Given the description of an element on the screen output the (x, y) to click on. 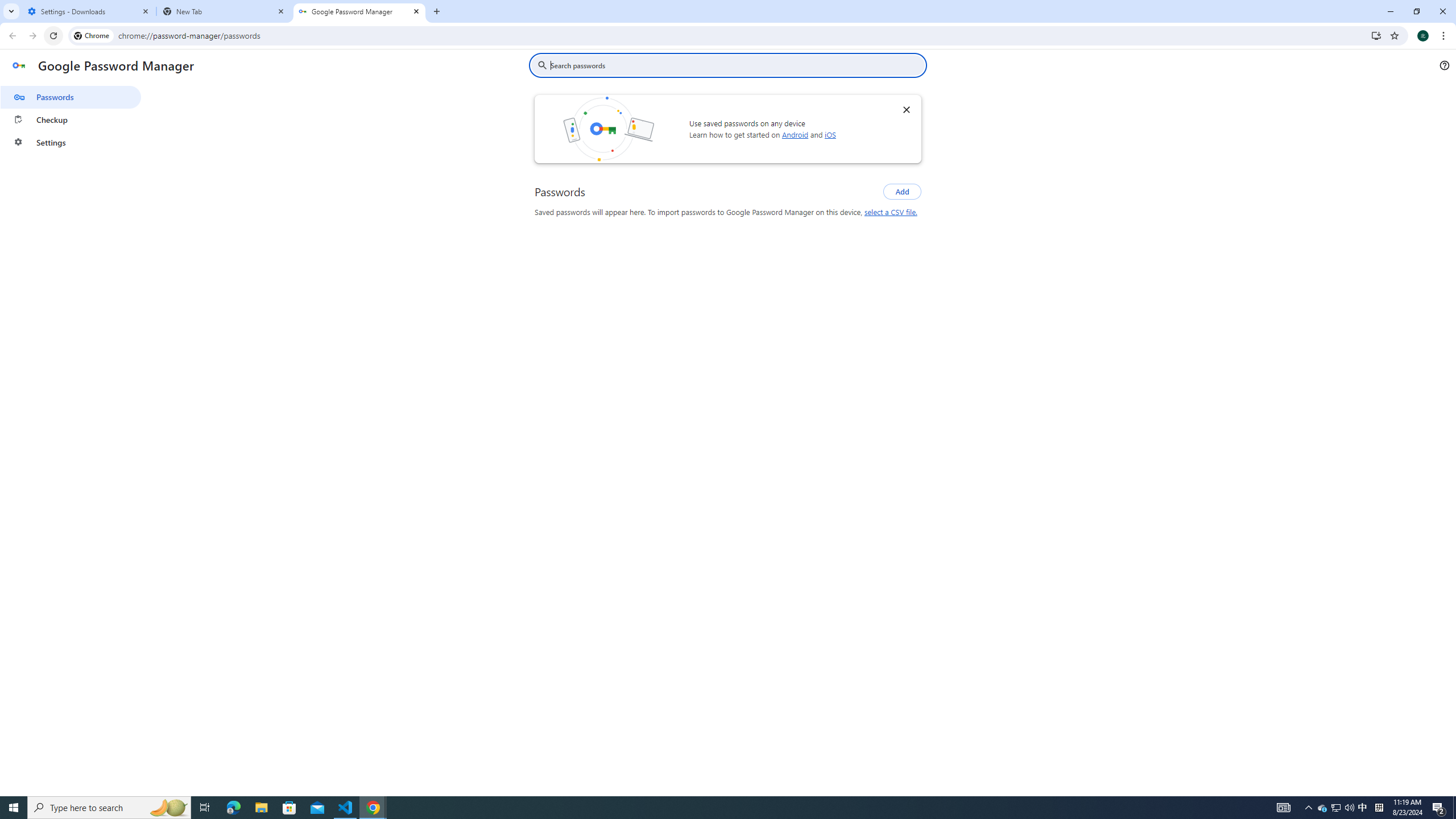
New Tab (224, 11)
Add (902, 191)
select a CSV file. (890, 212)
Settings - Downloads (88, 11)
AutomationID: menu (71, 117)
